Given the description of an element on the screen output the (x, y) to click on. 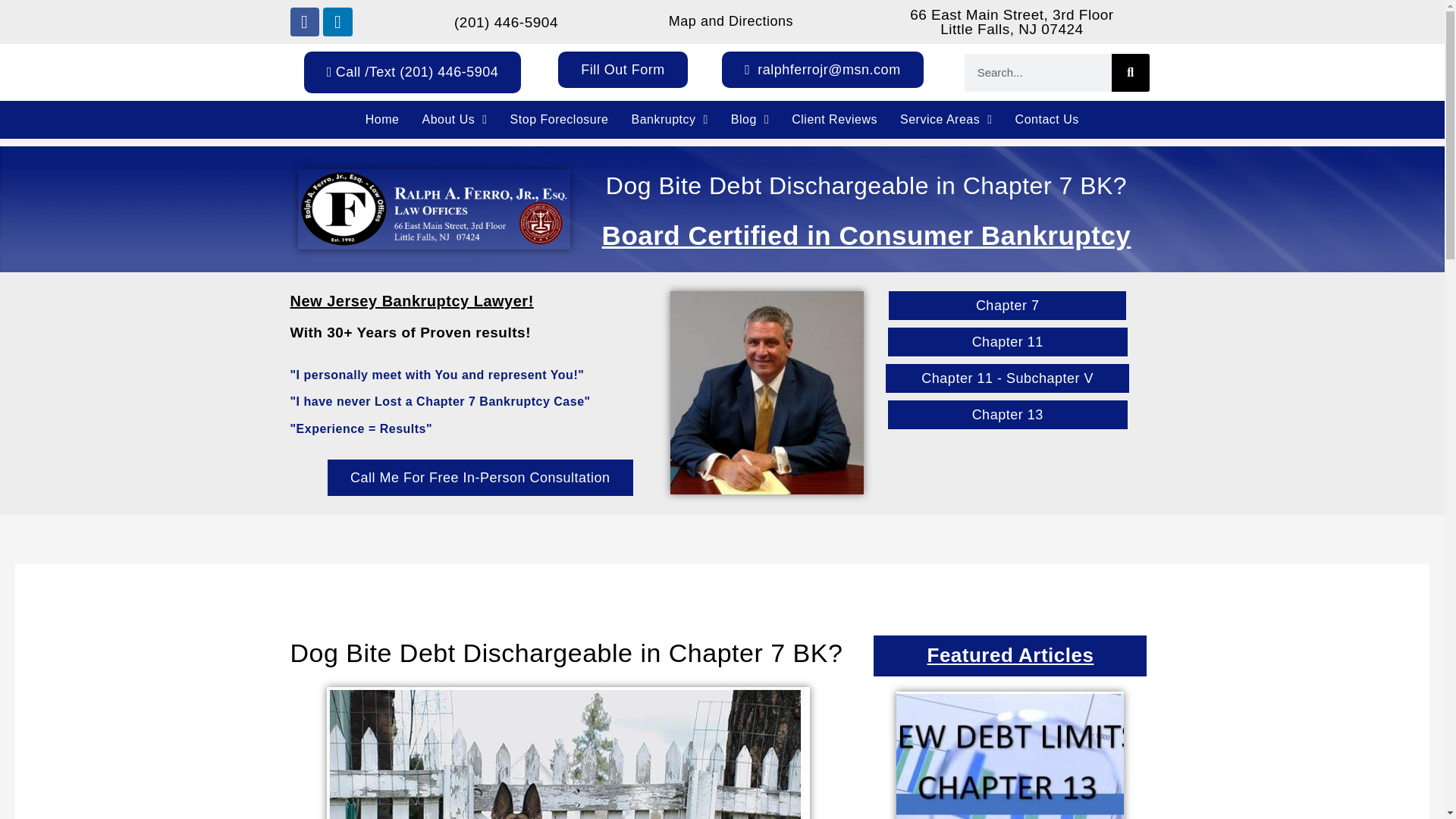
Search (1131, 72)
Linkedin (337, 21)
Home (382, 119)
Chapter 13 Debt Limits (1010, 755)
Fill Out Form (622, 69)
Blog (749, 119)
Bankruptcy (668, 119)
About Us (454, 119)
Stop Foreclosure (558, 119)
Map and Directions (730, 20)
